Given the description of an element on the screen output the (x, y) to click on. 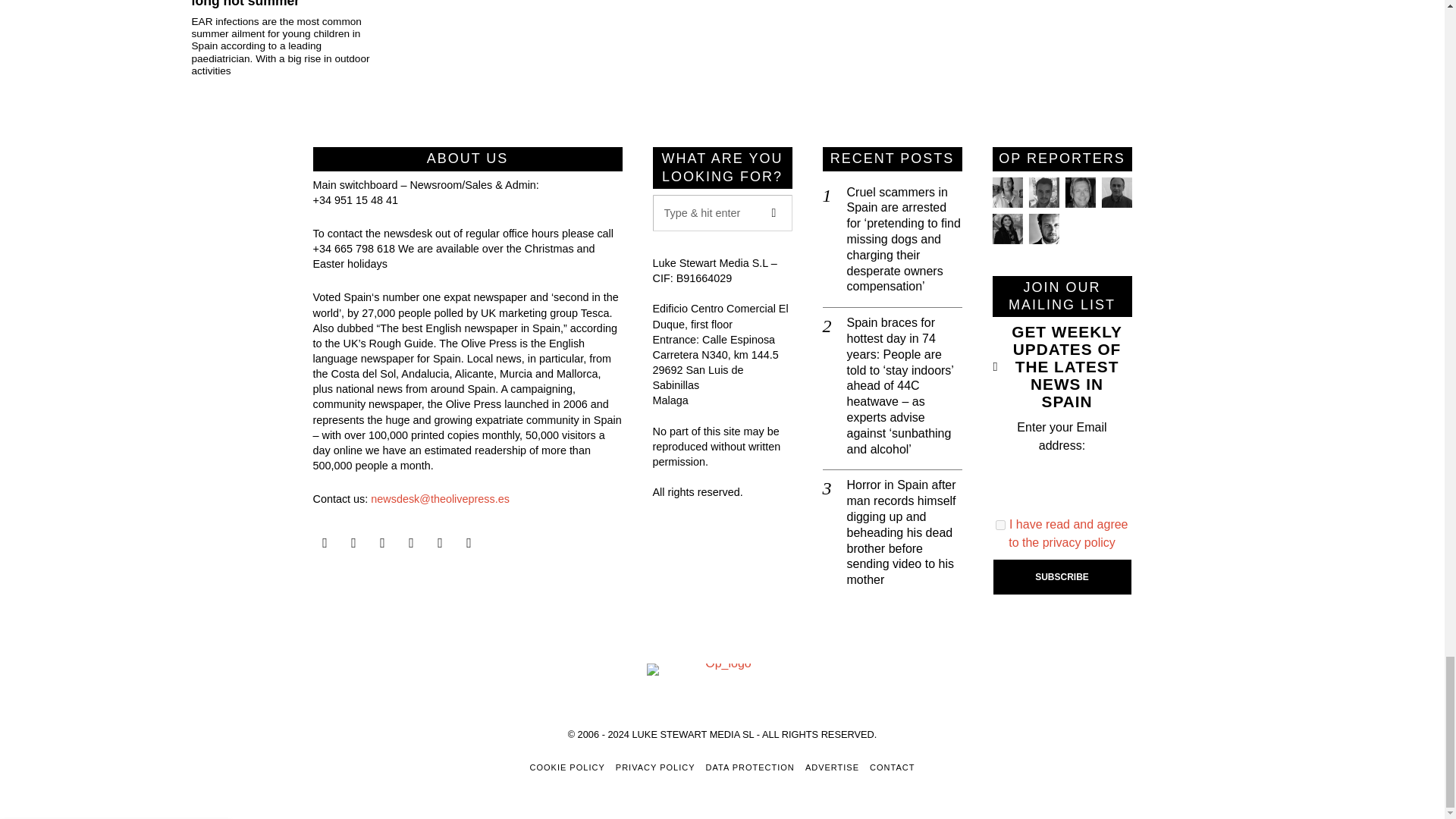
Walter Finch (1042, 228)
1 (1000, 524)
Yzabelle Bostyn (1006, 228)
Alex Trelinski (1079, 192)
Go (773, 212)
SUBSCRIBE (1061, 576)
Dilip Kuner (1115, 192)
Laurence Dollimore (1042, 192)
